Given the description of an element on the screen output the (x, y) to click on. 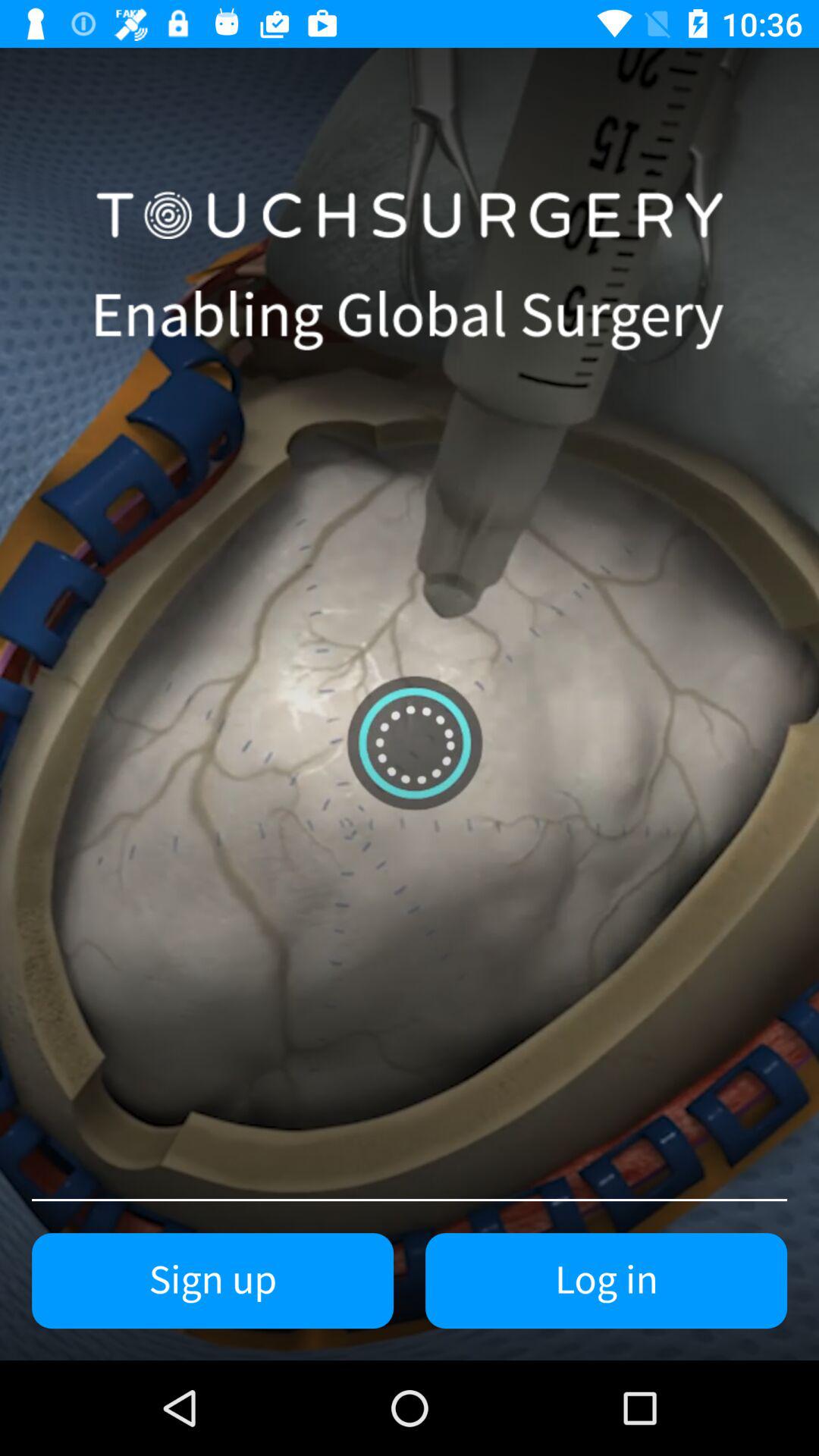
launch item to the left of log in icon (212, 1280)
